Given the description of an element on the screen output the (x, y) to click on. 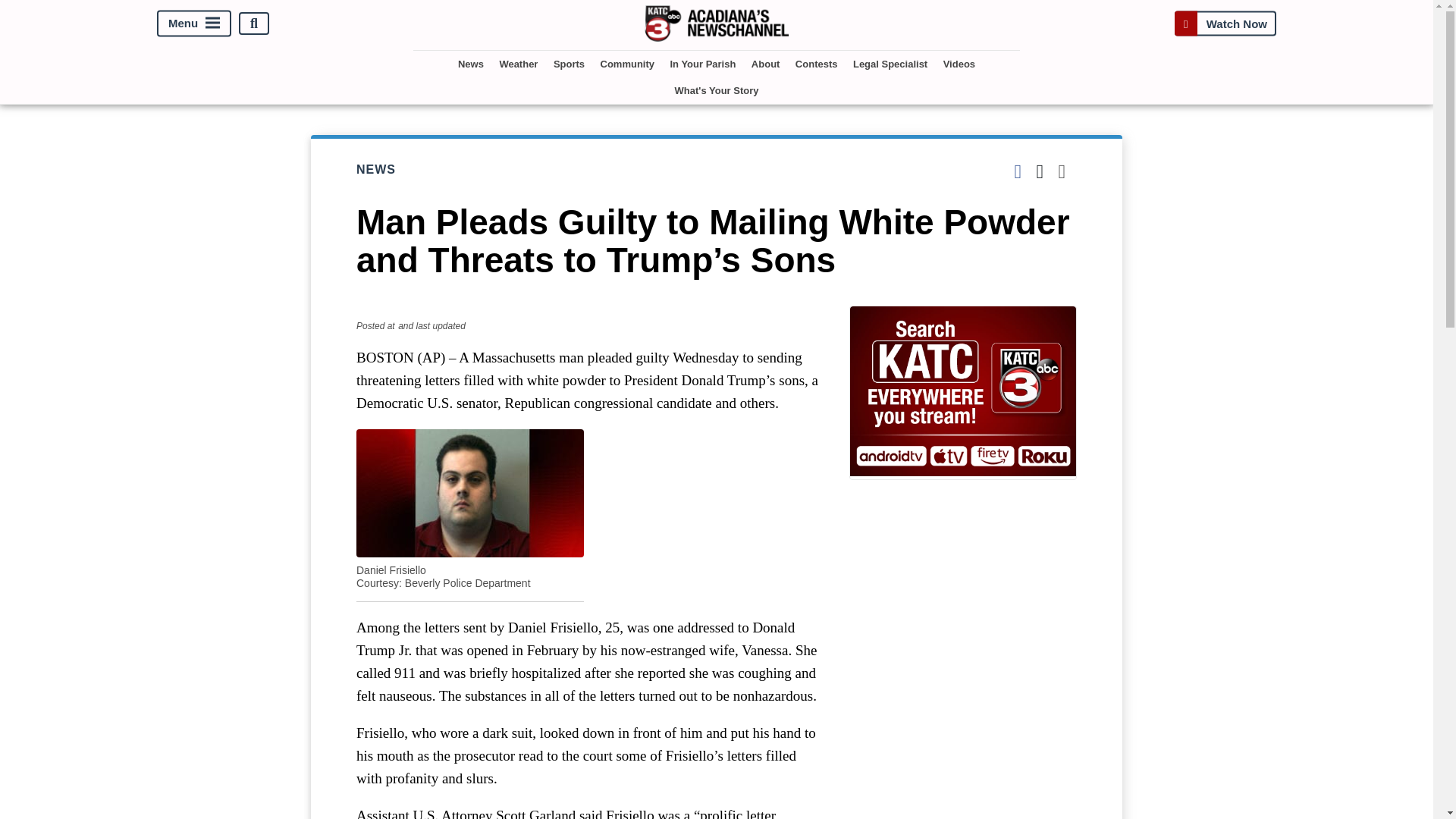
Menu (194, 23)
Watch Now (1224, 23)
